Given the description of an element on the screen output the (x, y) to click on. 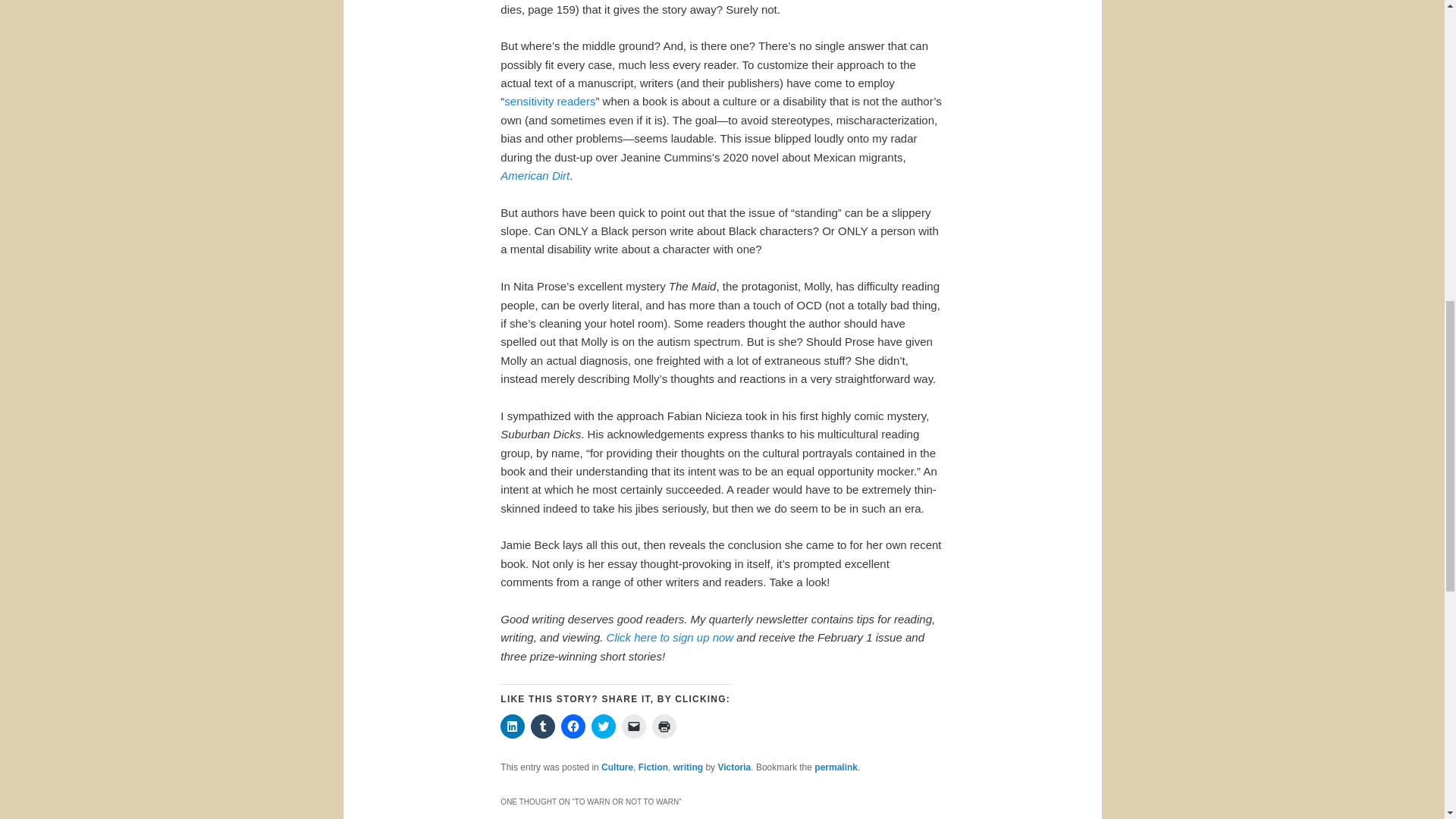
sensitivity readers (549, 101)
Fiction (653, 767)
Click to print (664, 726)
Click to share on Facebook (572, 726)
writing (687, 767)
Culture (617, 767)
Victoria (734, 767)
American Dirt (534, 174)
Click to share on Tumblr (542, 726)
Click to share on Twitter (603, 726)
